Given the description of an element on the screen output the (x, y) to click on. 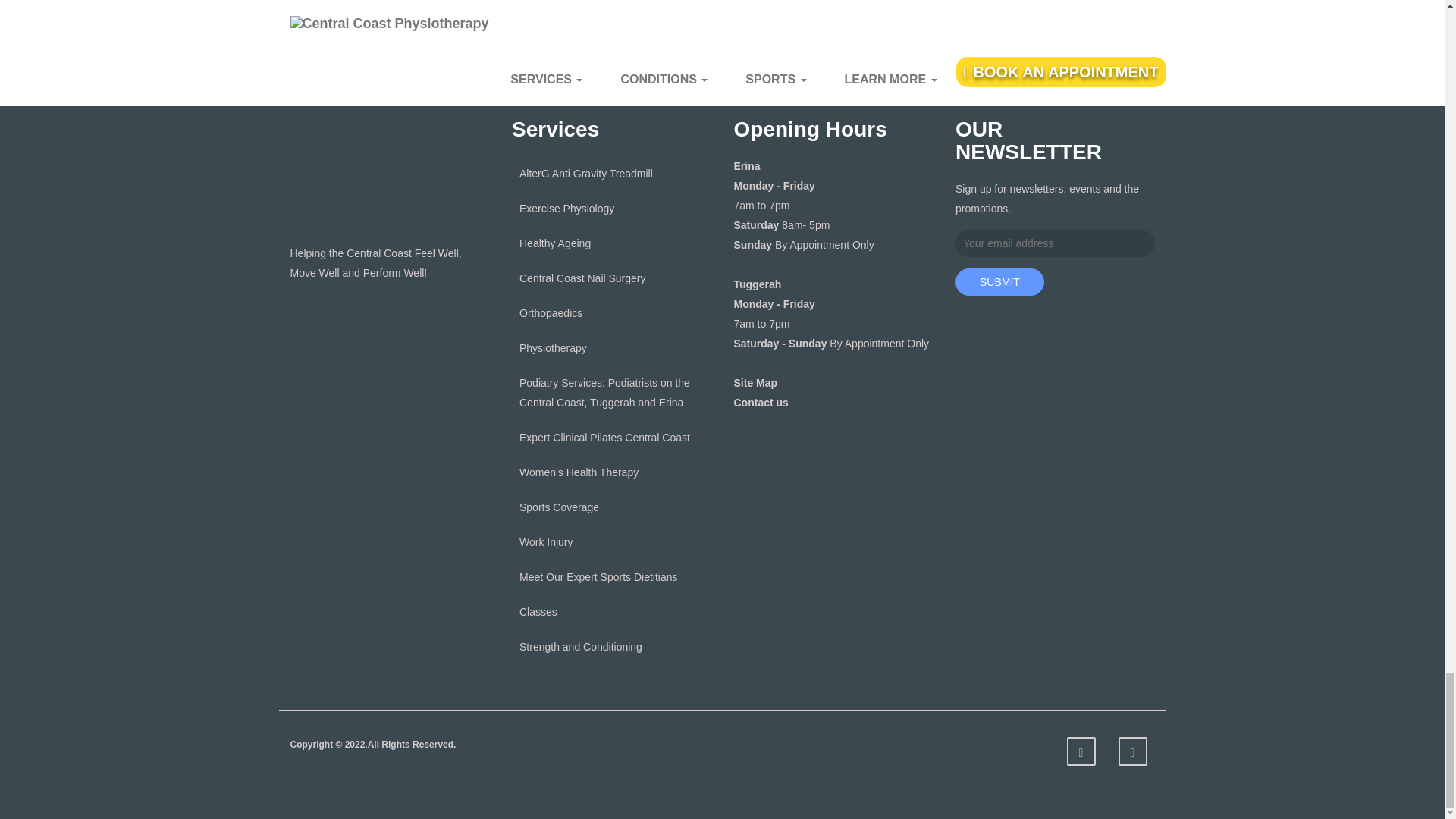
Instagram (1132, 751)
SUBMIT (999, 281)
Facebook (1079, 751)
